Given the description of an element on the screen output the (x, y) to click on. 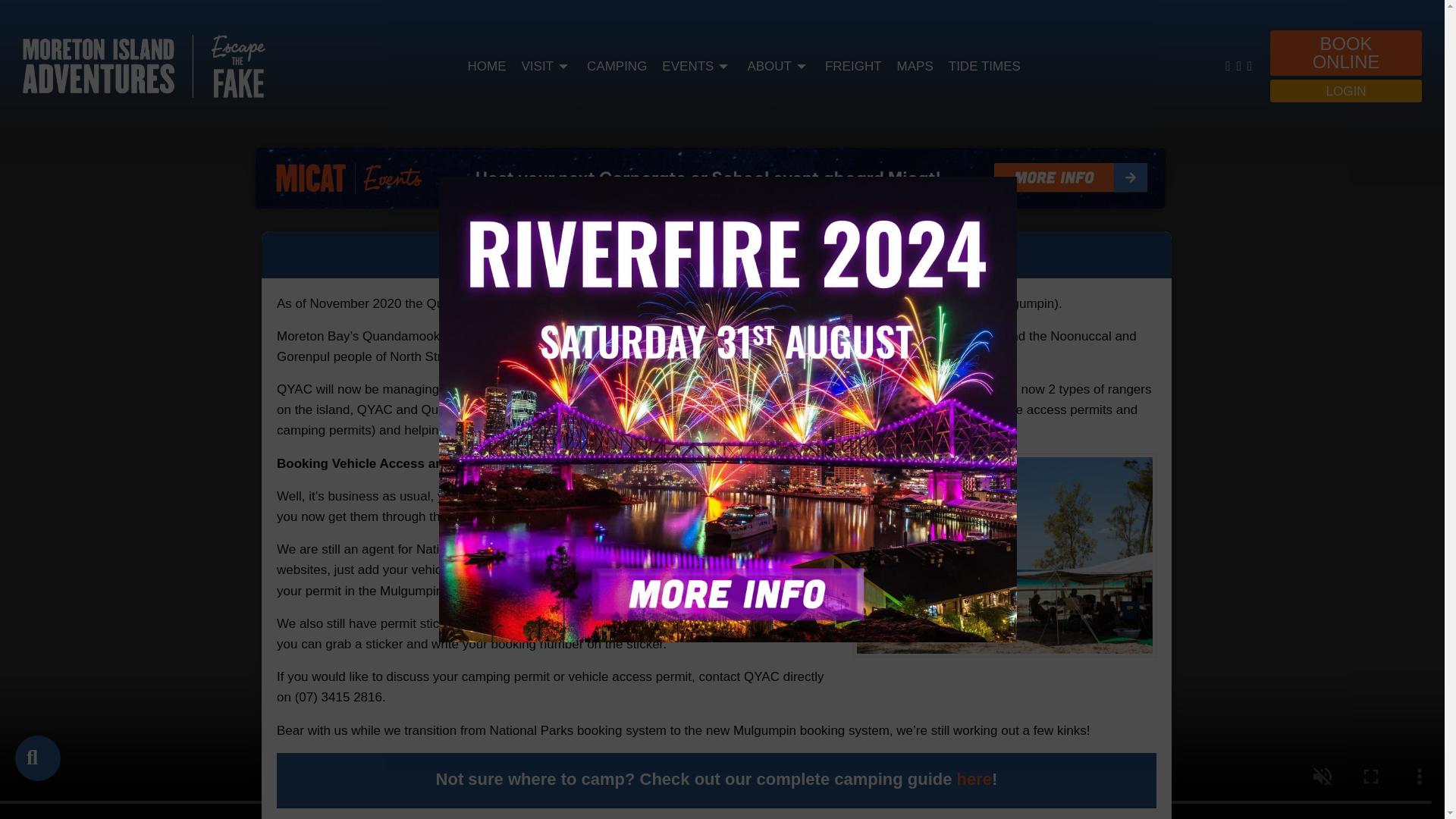
VISIT (546, 66)
Moreton Island Adventures (143, 65)
ABOUT (777, 66)
TIDE TIMES (984, 66)
EVENTS (697, 66)
MAPS (914, 66)
CAMPING (616, 66)
FREIGHT (853, 66)
HOME (486, 66)
